Given the description of an element on the screen output the (x, y) to click on. 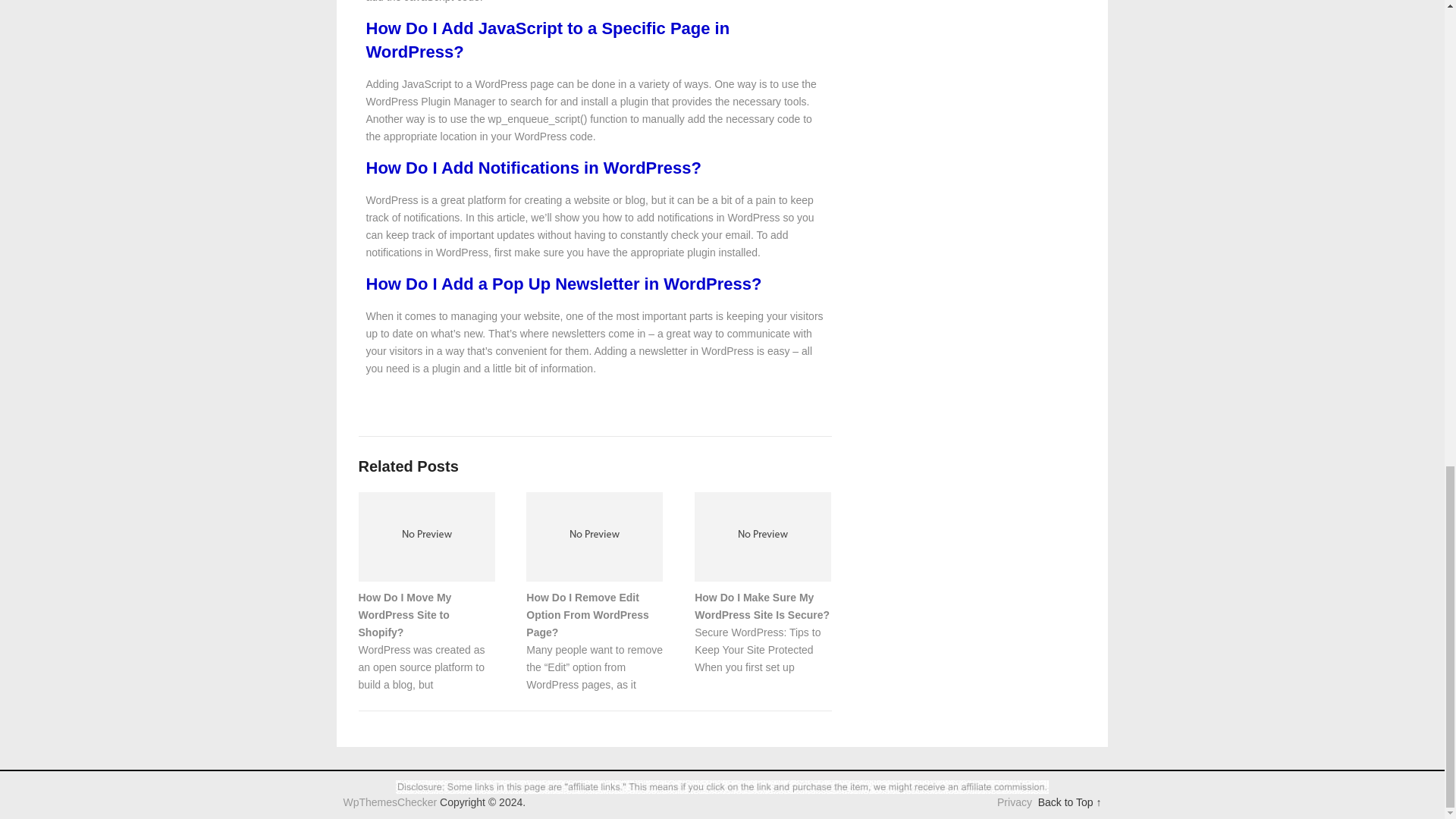
How Do I Remove Edit Option From WordPress Page? (587, 614)
How Do I Add Notifications in WordPress? (532, 167)
How Do I Move My WordPress Site to Shopify? (404, 614)
How Do I Add a Pop Up Newsletter in WordPress? (563, 283)
How Do I Make Sure My WordPress Site Is Secure? (761, 605)
How Do I Remove Edit Option From WordPress Page? (587, 614)
How Do I Make Sure My WordPress Site Is Secure? (761, 605)
How Do I Add JavaScript to a Specific Page in WordPress? (547, 39)
How Do I Move My WordPress Site to Shopify? (404, 614)
